Given the description of an element on the screen output the (x, y) to click on. 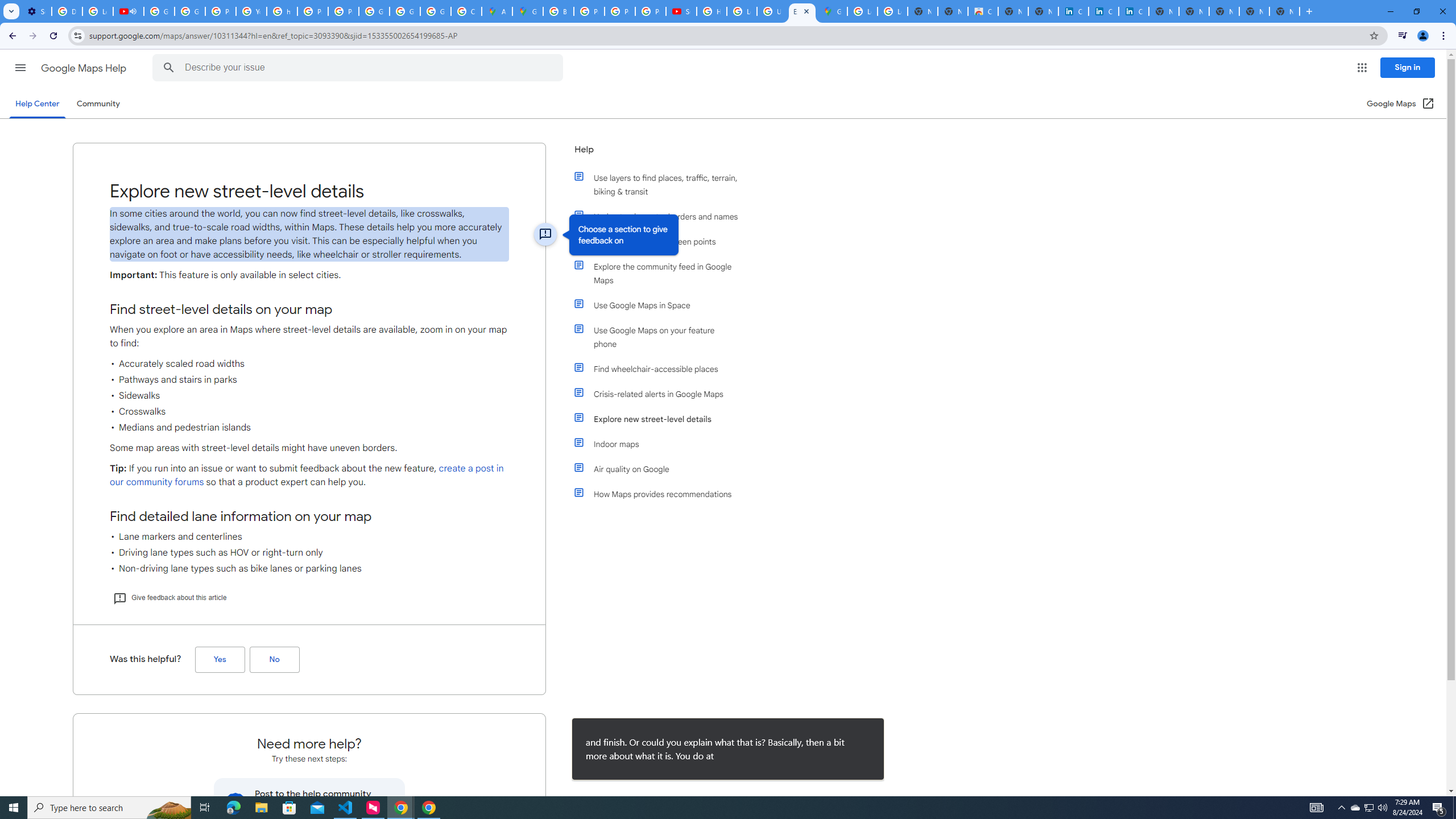
Use Google Maps on your feature phone (661, 336)
Find wheelchair-accessible places (661, 368)
Crosswalks (309, 411)
Yes (Was this helpful?) (219, 660)
Pathways and stairs in parks (309, 379)
Measure distance between points (661, 241)
Privacy Help Center - Policies Help (312, 11)
